Given the description of an element on the screen output the (x, y) to click on. 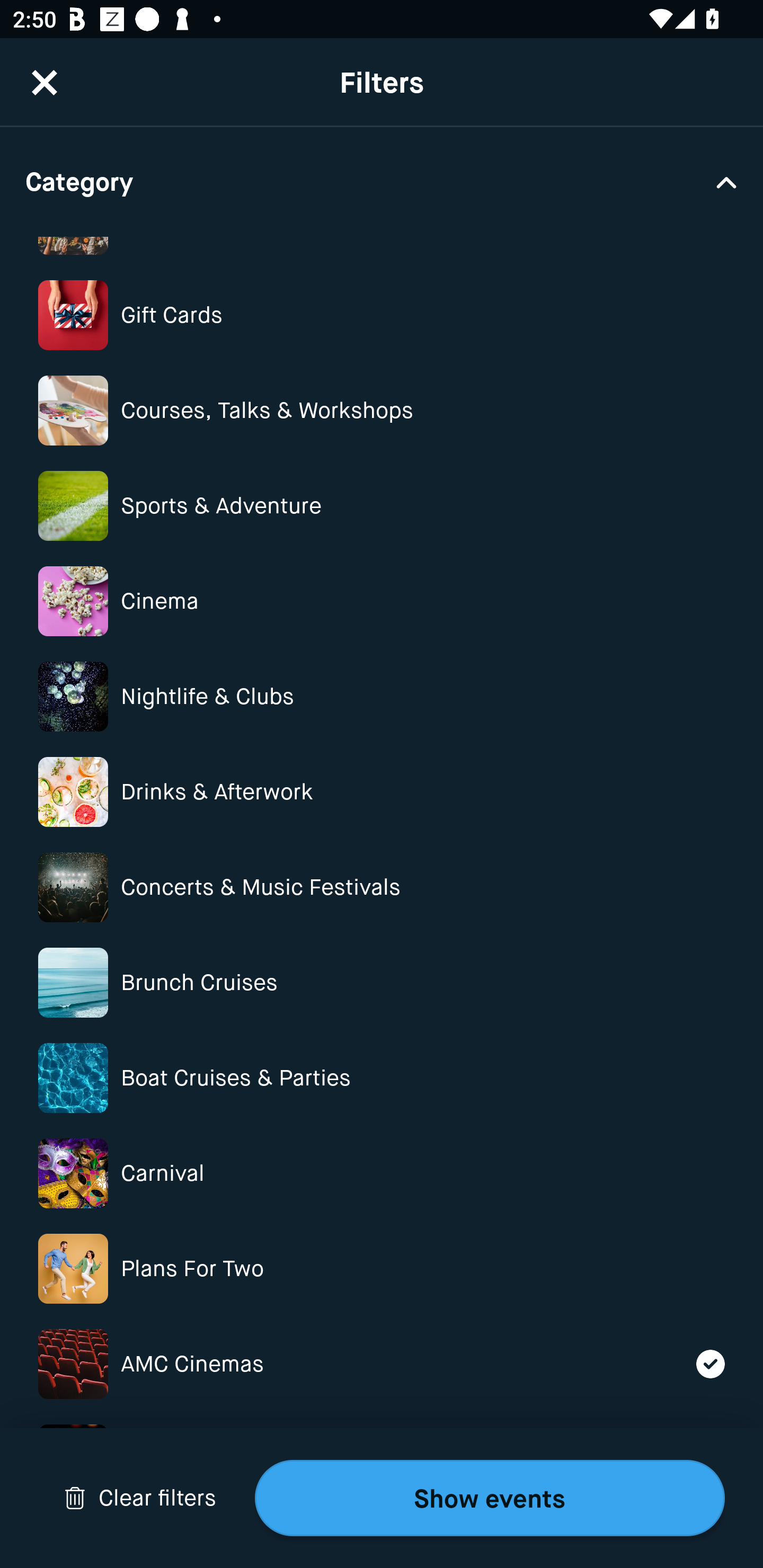
Category Drop Down Arrow (381, 181)
Category Image Gift Cards (381, 314)
Category Image Courses, Talks & Workshops (381, 410)
Category Image Sports & Adventure (381, 505)
Category Image Cinema (381, 600)
Category Image Nightlife & Clubs (381, 696)
Category Image Drinks & Afterwork (381, 791)
Category Image Concerts & Music Festivals (381, 887)
Category Image Brunch Cruises (381, 981)
Category Image Boat Cruises & Parties (381, 1077)
Category Image Carnival (381, 1173)
Category Image Plans For Two (381, 1268)
Category Image AMC Cinemas Selected Icon (381, 1363)
Drop Down Arrow Clear filters (139, 1497)
Show events (489, 1497)
